Given the description of an element on the screen output the (x, y) to click on. 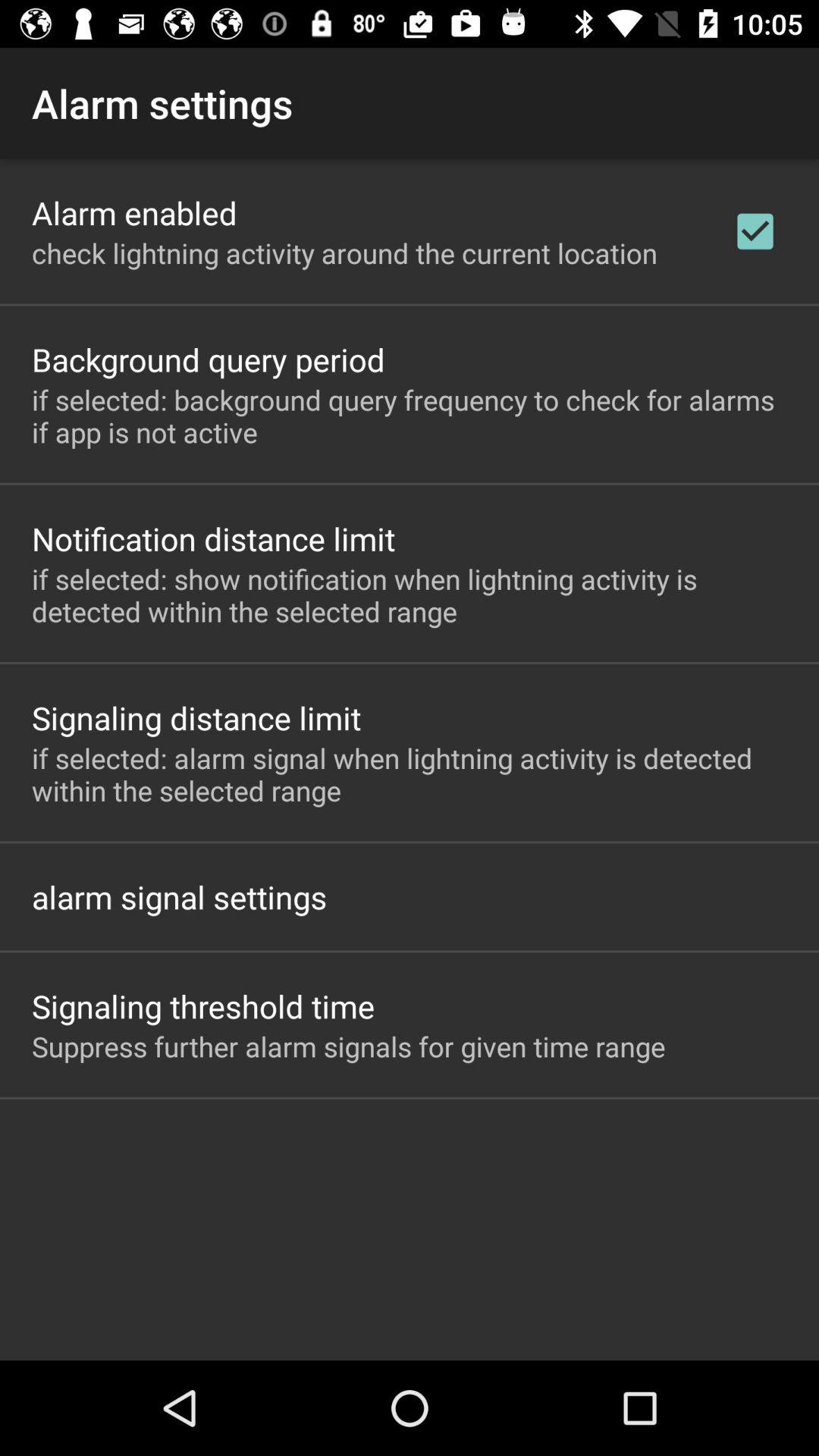
click the app below alarm signal settings icon (202, 1005)
